Given the description of an element on the screen output the (x, y) to click on. 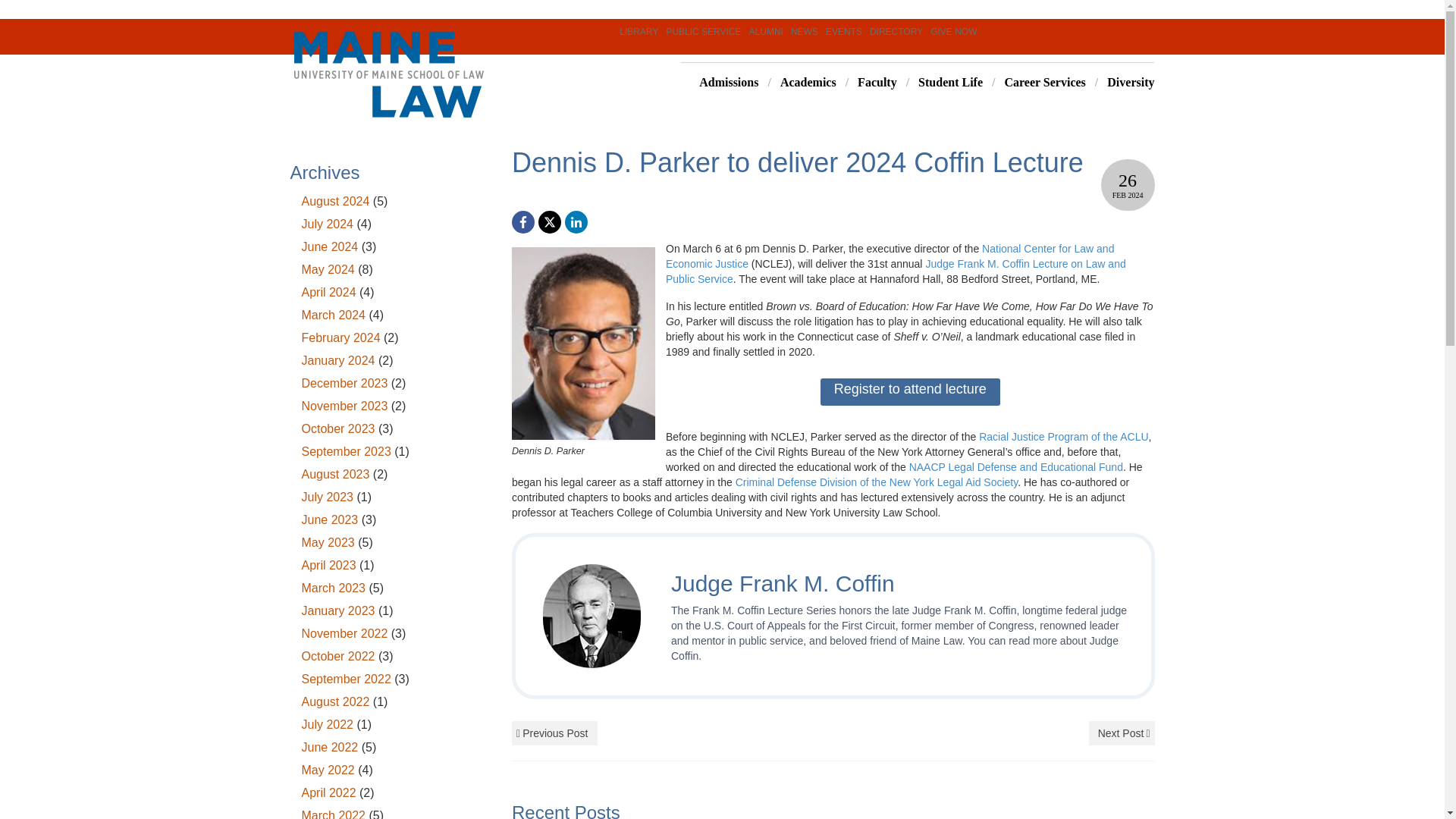
Academics (796, 82)
LIBRARY (634, 28)
PUBLIC SERVICE (699, 28)
DIRECTORY (892, 28)
Admissions (719, 82)
NEWS (800, 28)
ALUMNI (762, 28)
EVENTS (839, 28)
GIVE NOW (949, 28)
MaineLaw (428, 74)
